Given the description of an element on the screen output the (x, y) to click on. 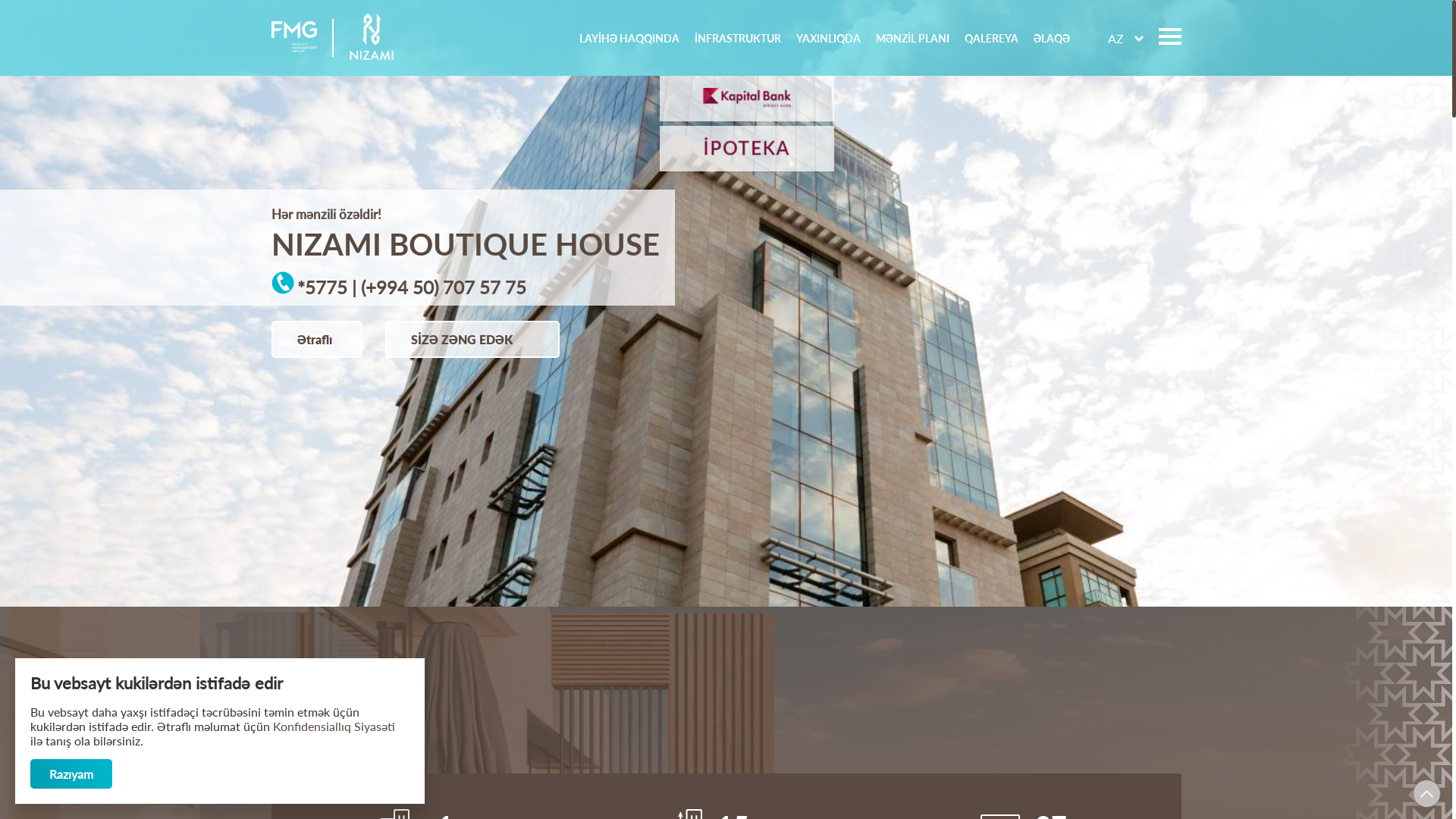
AZ Element type: text (1114, 37)
YAXINLIQDA Element type: text (828, 37)
QALEREYA Element type: text (991, 37)
